Given the description of an element on the screen output the (x, y) to click on. 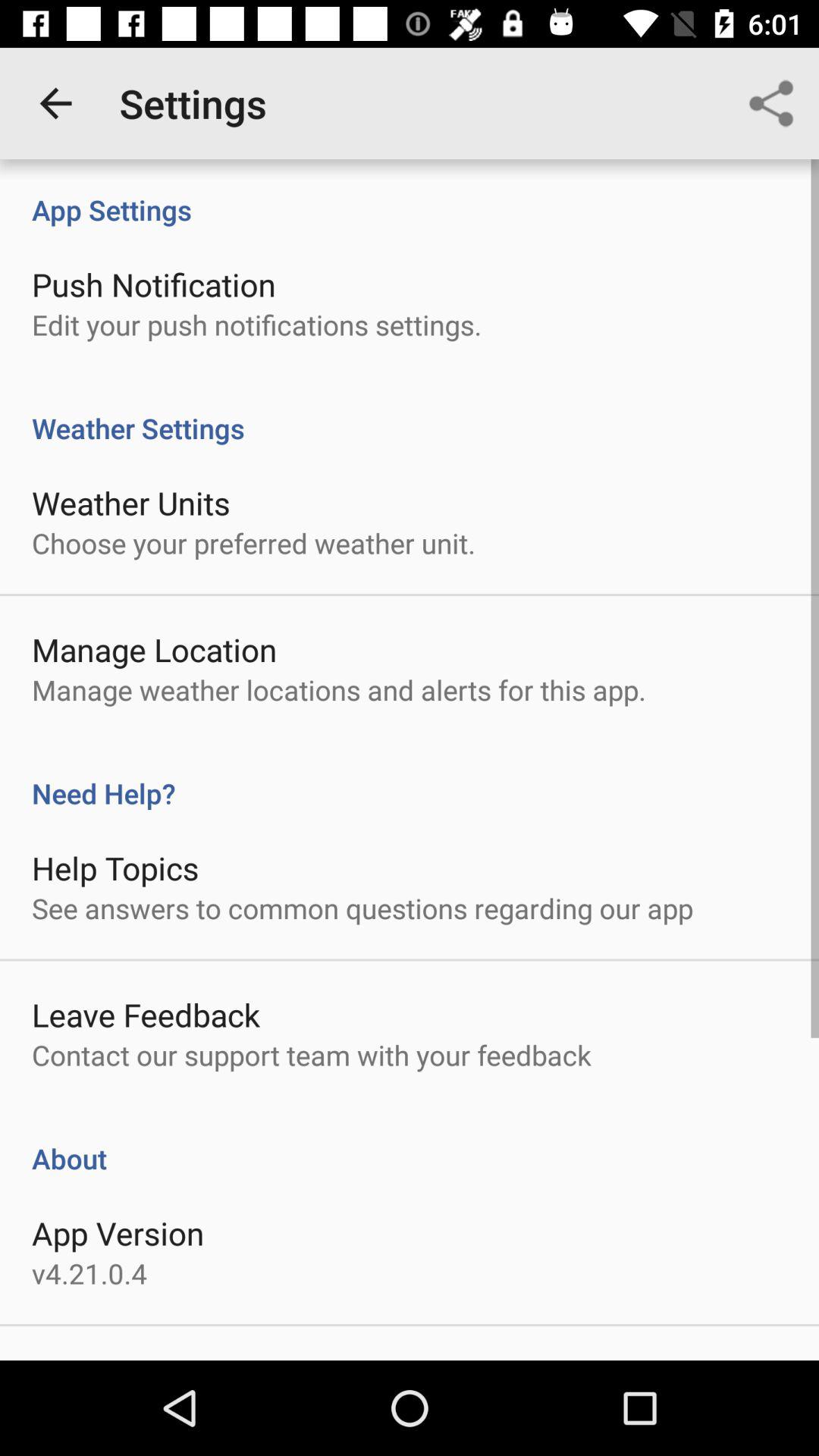
click the icon above the app settings item (55, 103)
